Given the description of an element on the screen output the (x, y) to click on. 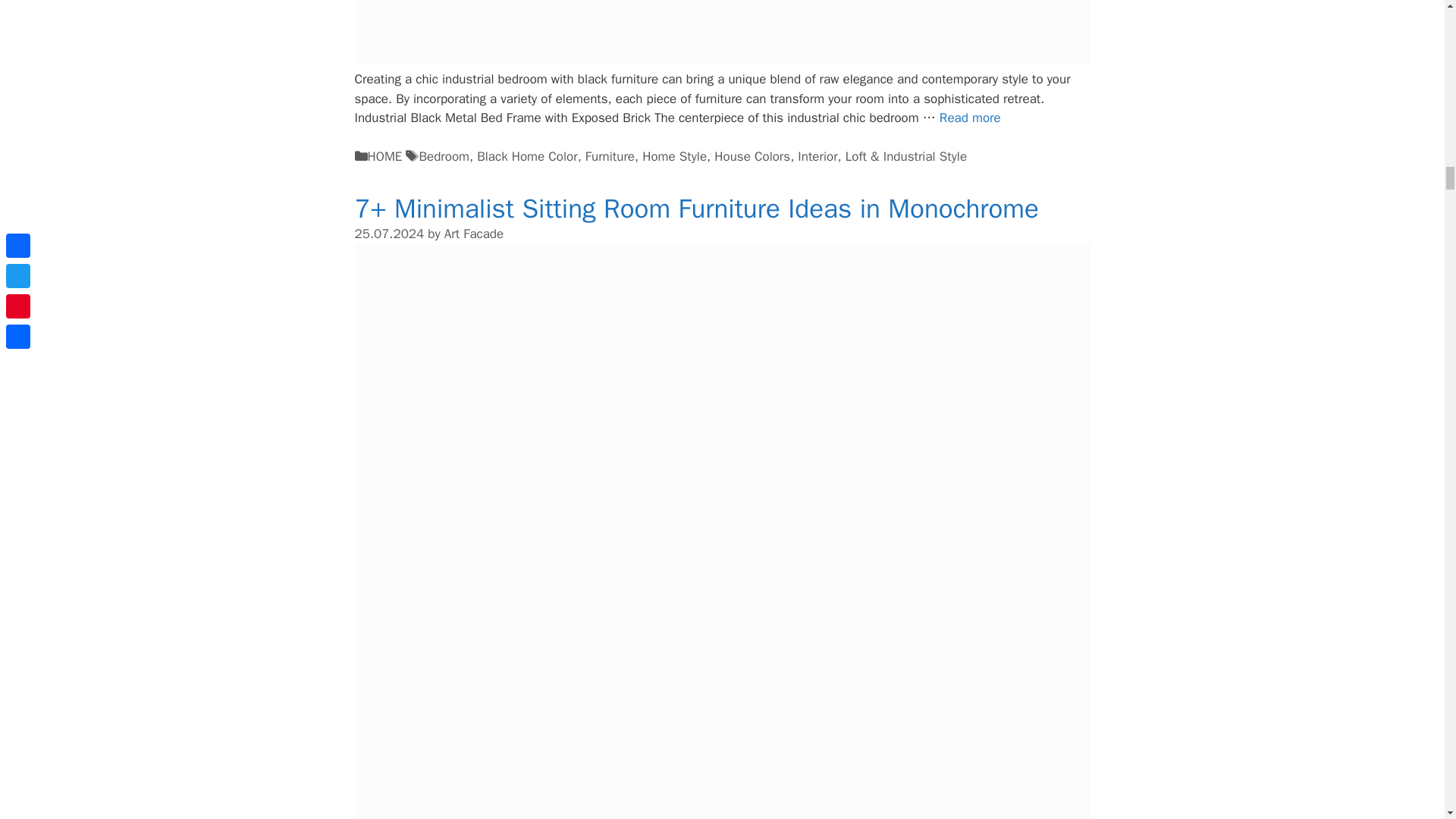
View all posts by Art Facade (473, 233)
